Given the description of an element on the screen output the (x, y) to click on. 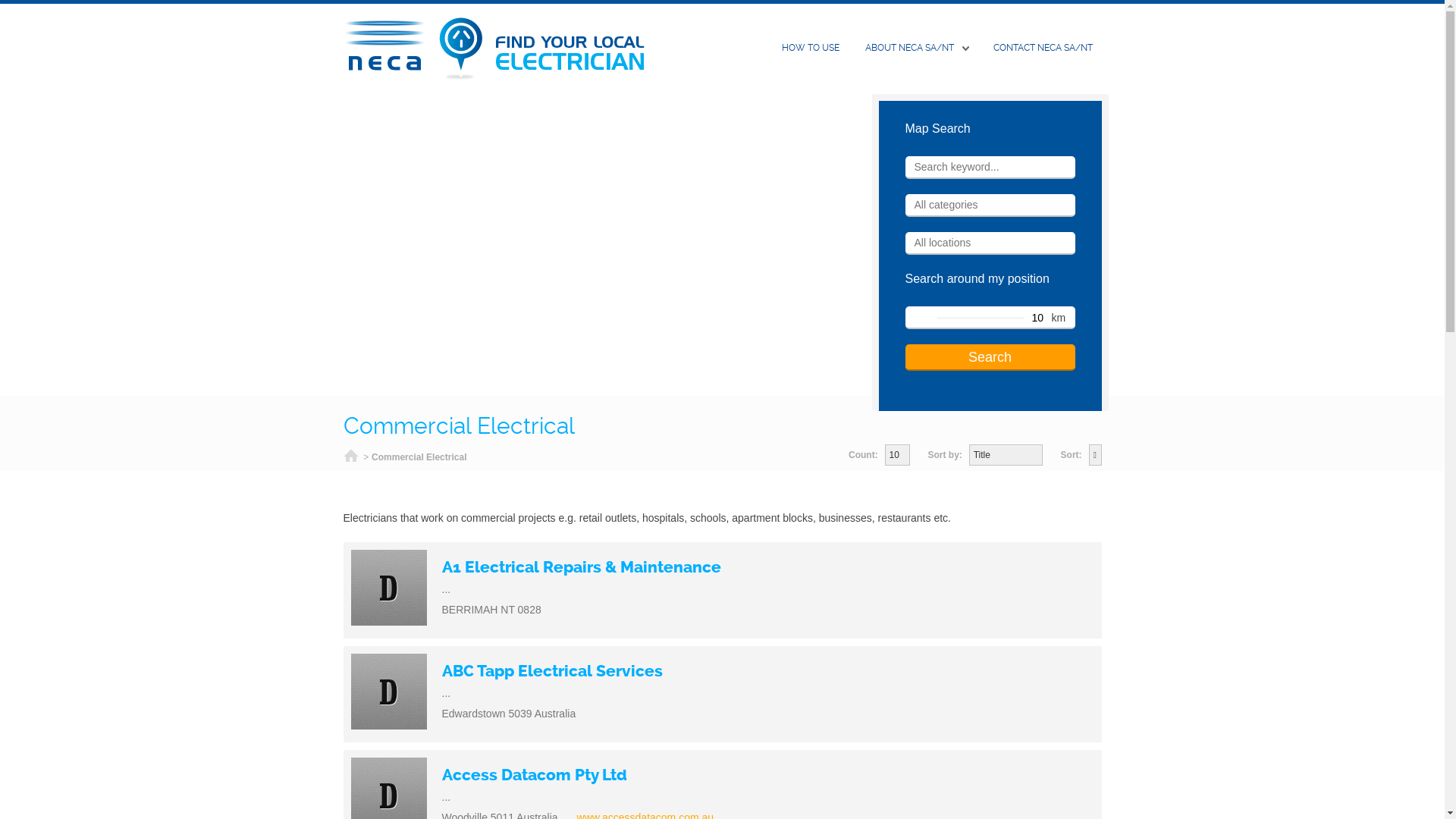
HOW TO USE Element type: text (809, 48)
A1 Electrical Repairs & Maintenance Element type: text (580, 567)
Access Datacom Pty Ltd Element type: text (533, 774)
Home Element type: text (349, 457)
Commercial Electrical Element type: text (418, 456)
CONTACT NECA SA/NT Element type: text (1042, 48)
Search Element type: text (990, 357)
ABC Tapp Electrical Services Element type: text (551, 671)
ABOUT NECA SA/NT Element type: text (915, 48)
